Given the description of an element on the screen output the (x, y) to click on. 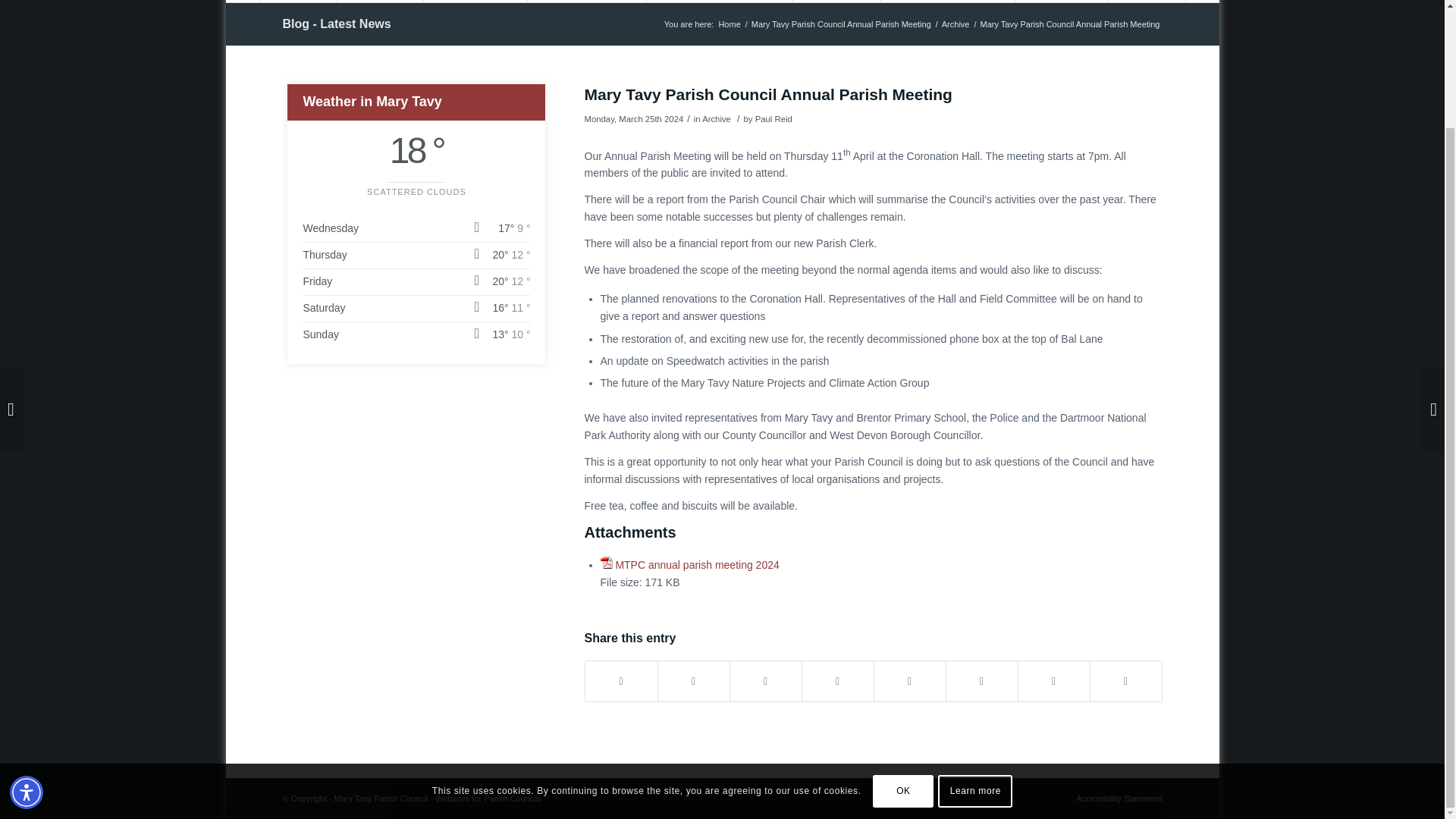
Mary Tavy Parish Council (729, 24)
Mary Tavy Parish Council Annual Parish Meeting (841, 24)
News and Events (586, 1)
Permanent Link: Blog - Latest News (336, 23)
MTPC annual parish meeting 2024 (696, 564)
Parish Council (475, 1)
Accessibility Menu (26, 652)
Home (296, 1)
The Village (379, 1)
Posts by Paul Reid (773, 118)
